Given the description of an element on the screen output the (x, y) to click on. 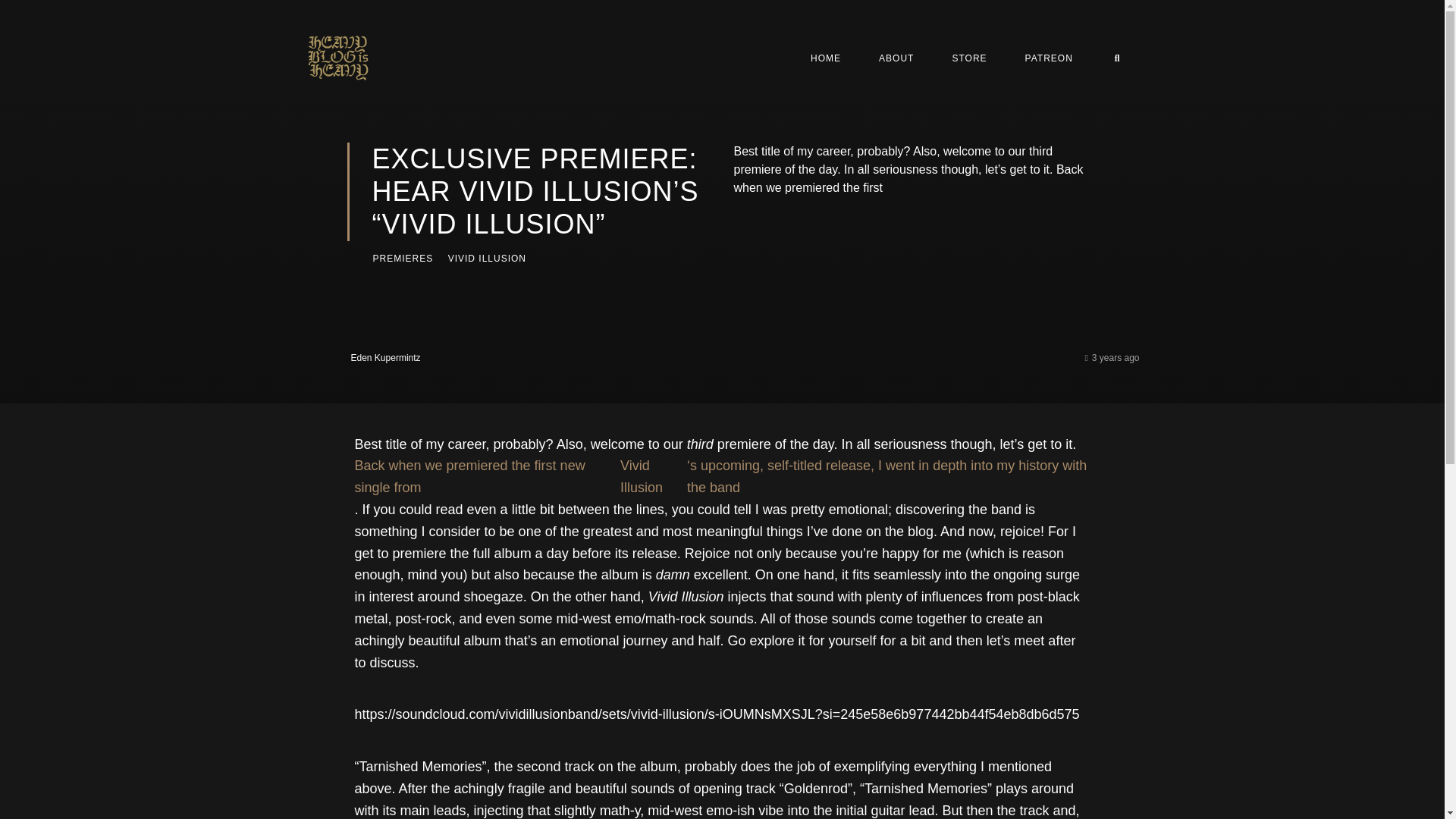
STORE (969, 58)
HOME (826, 58)
PATREON (1049, 58)
ABOUT (896, 58)
